Given the description of an element on the screen output the (x, y) to click on. 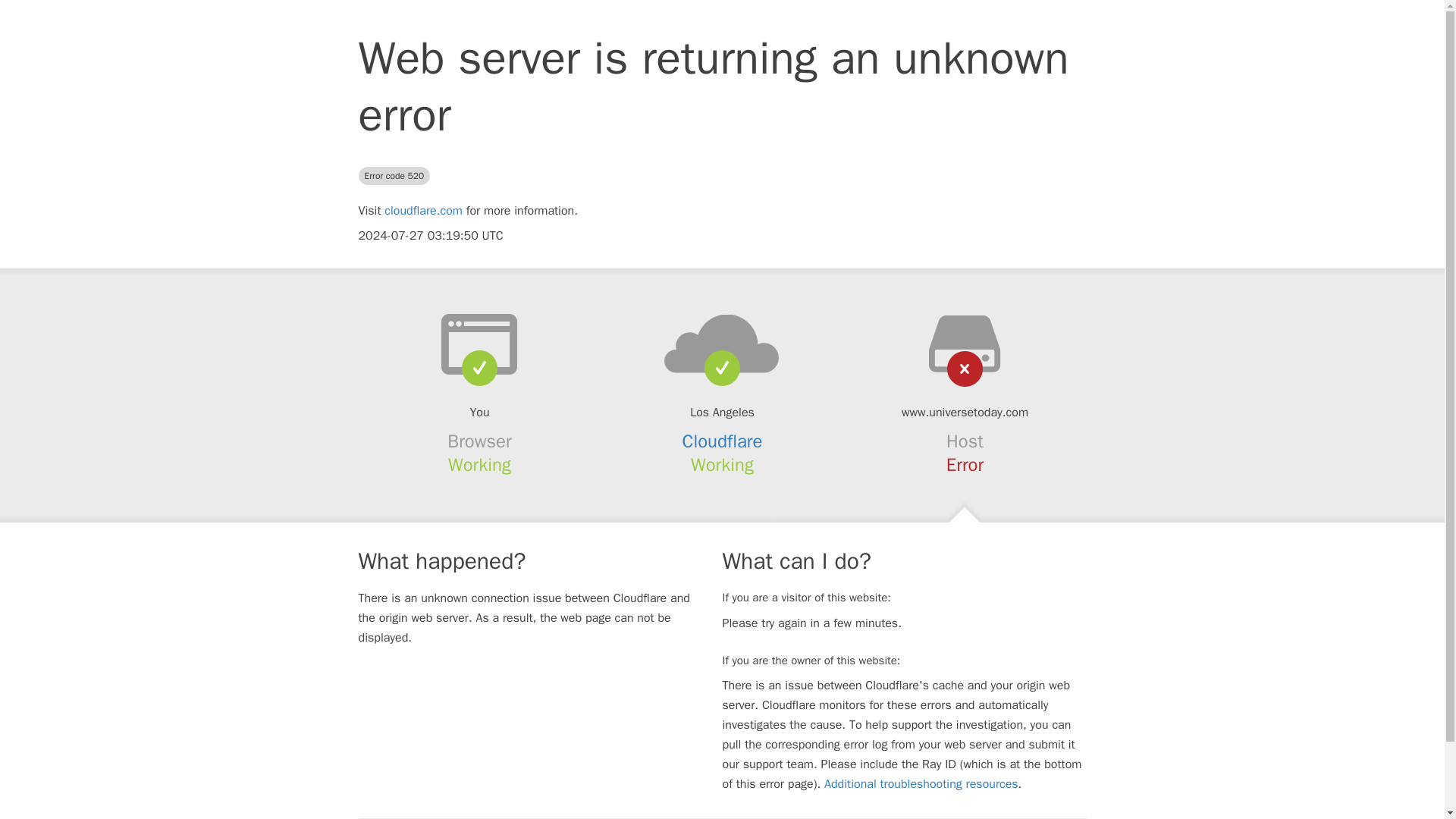
Cloudflare (722, 440)
Additional troubleshooting resources (920, 783)
cloudflare.com (423, 210)
